Given the description of an element on the screen output the (x, y) to click on. 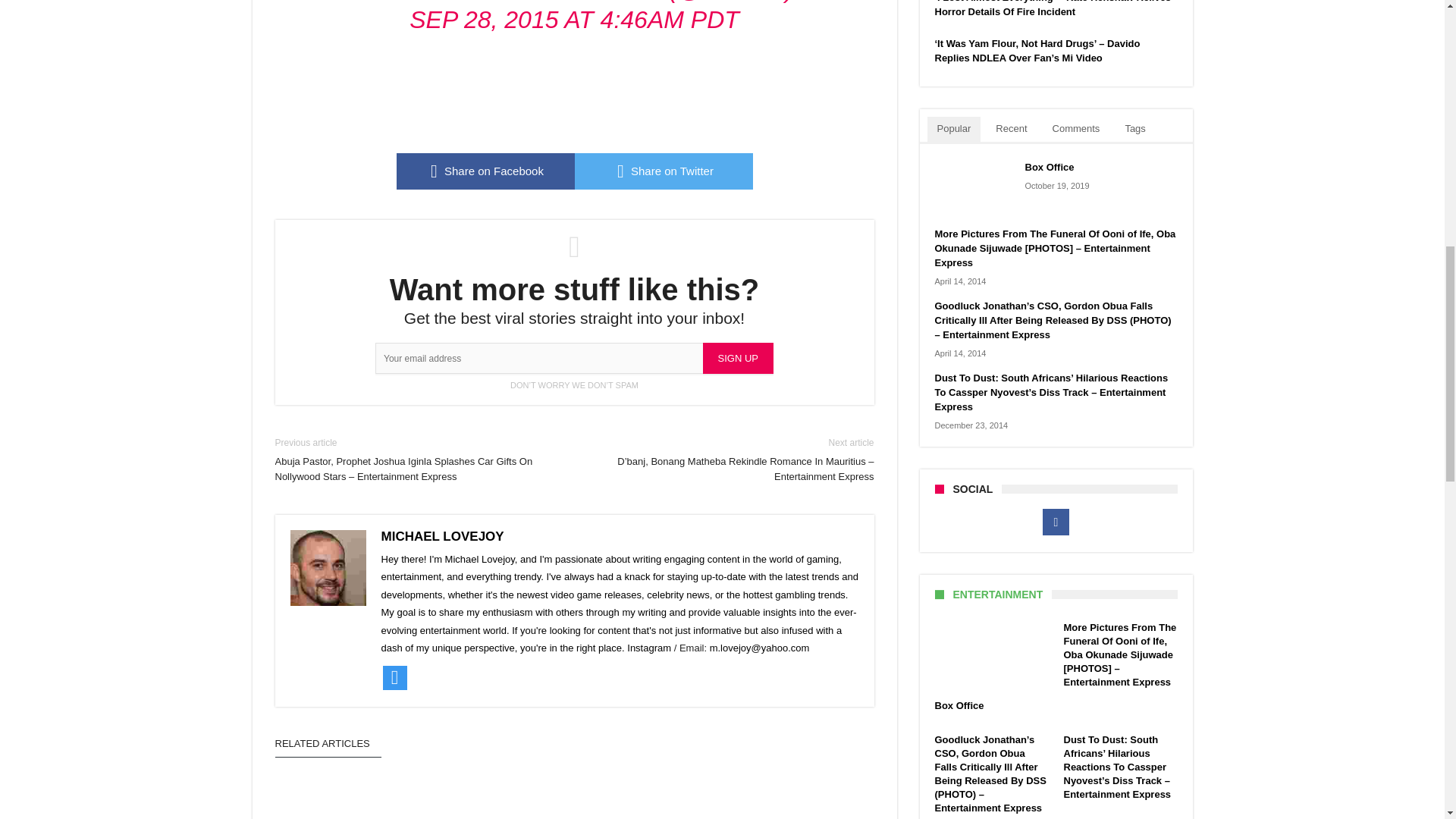
MICHAEL LOVEJOY (441, 536)
Go Top (1417, 60)
Sign up (738, 358)
Sign up (738, 358)
Share on Twitter (663, 171)
twitter (663, 171)
Facebook (1055, 522)
Share on Facebook (484, 171)
facebook (484, 171)
